Given the description of an element on the screen output the (x, y) to click on. 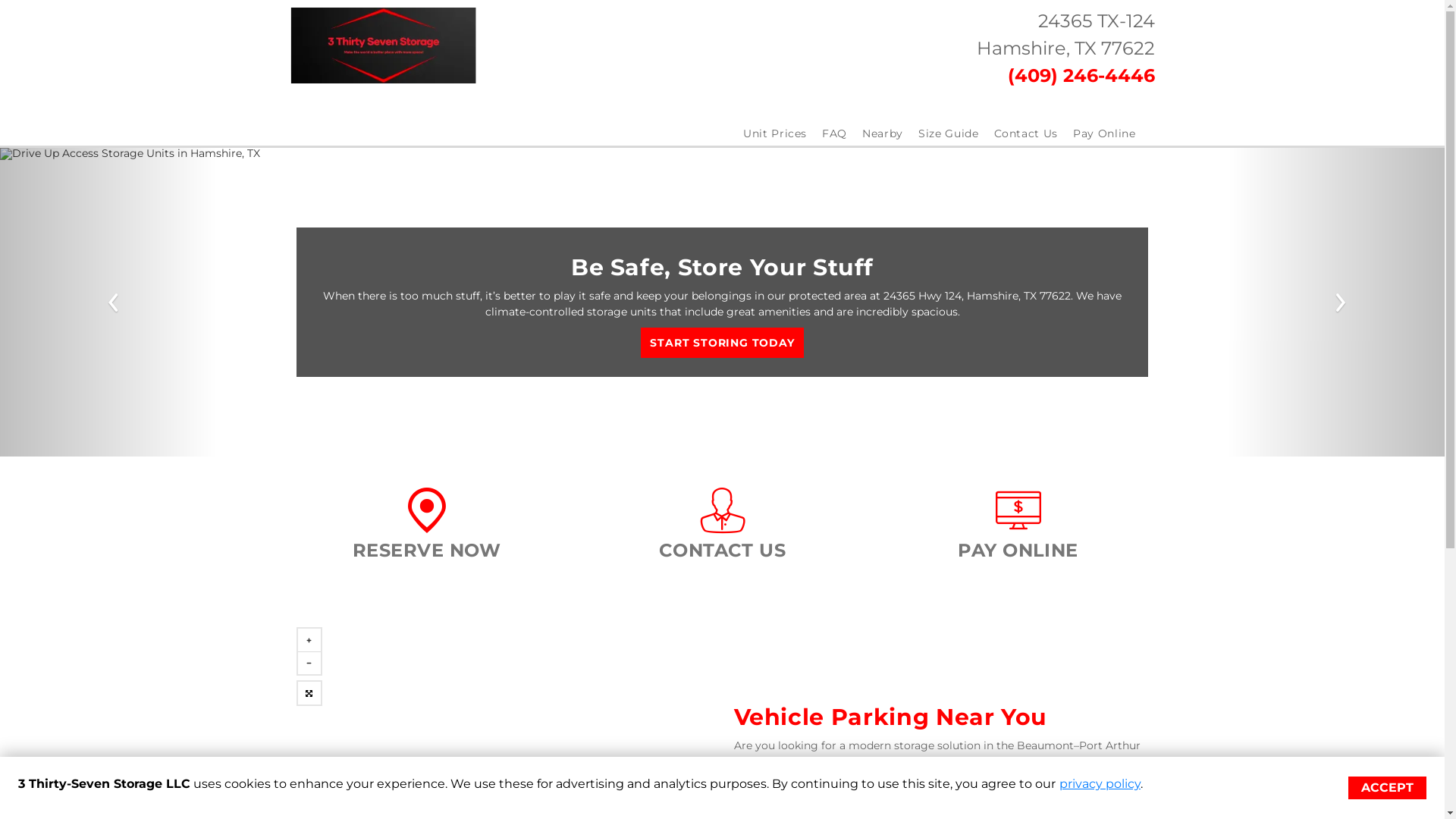
ACCEPT Element type: text (1387, 787)
privacy policy Element type: text (1099, 783)
Zoom In Element type: hover (308, 639)
FAQ Element type: text (834, 133)
Contact Us Element type: text (1025, 133)
Size Guide Element type: text (948, 133)
PAY ONLINE Element type: text (1017, 551)
Previous Element type: text (108, 301)
CONTACT US Element type: text (722, 551)
Zoom Out Element type: hover (308, 662)
START STORING TODAY Element type: text (721, 342)
(409) 246-4446 Element type: text (1080, 77)
RESERVE NOW Element type: text (426, 551)
Toggle fullscreen Element type: hover (308, 692)
Pay Online Element type: text (1104, 133)
Unit Prices Element type: text (774, 133)
Next Element type: text (1335, 301)
3 Thirty Seven Storage Logo Element type: hover (382, 45)
Drive Up Access Storage Units in Hamshire, TX  Element type: hover (722, 301)
Nearby Element type: text (882, 133)
